Given the description of an element on the screen output the (x, y) to click on. 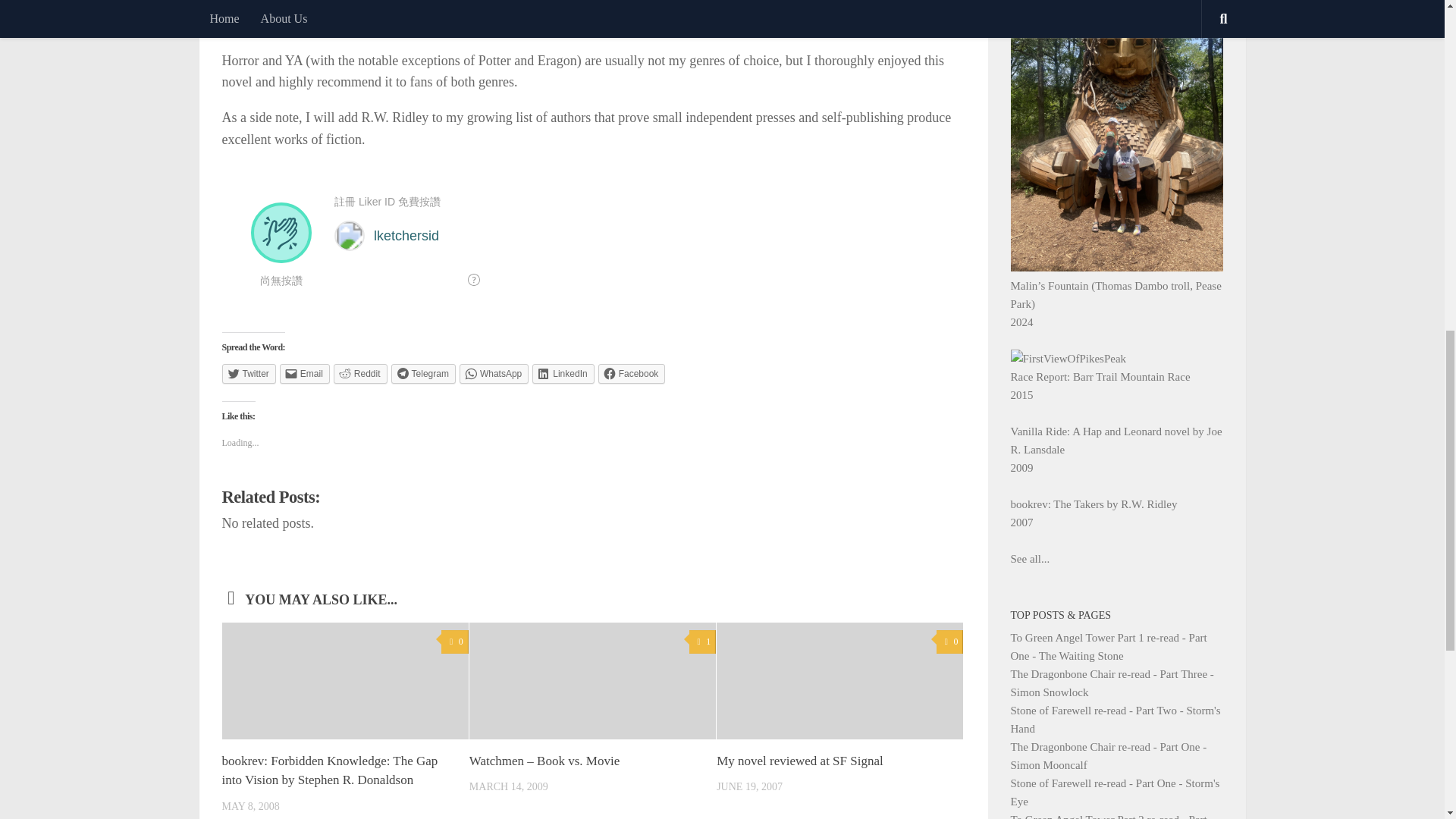
Click to share on Facebook (631, 373)
Click to email a link to a friend (304, 373)
Click to share on Reddit (360, 373)
Click to share on Telegram (423, 373)
Click to share on LinkedIn (563, 373)
Click to share on Twitter (248, 373)
Click to share on WhatsApp (494, 373)
